Given the description of an element on the screen output the (x, y) to click on. 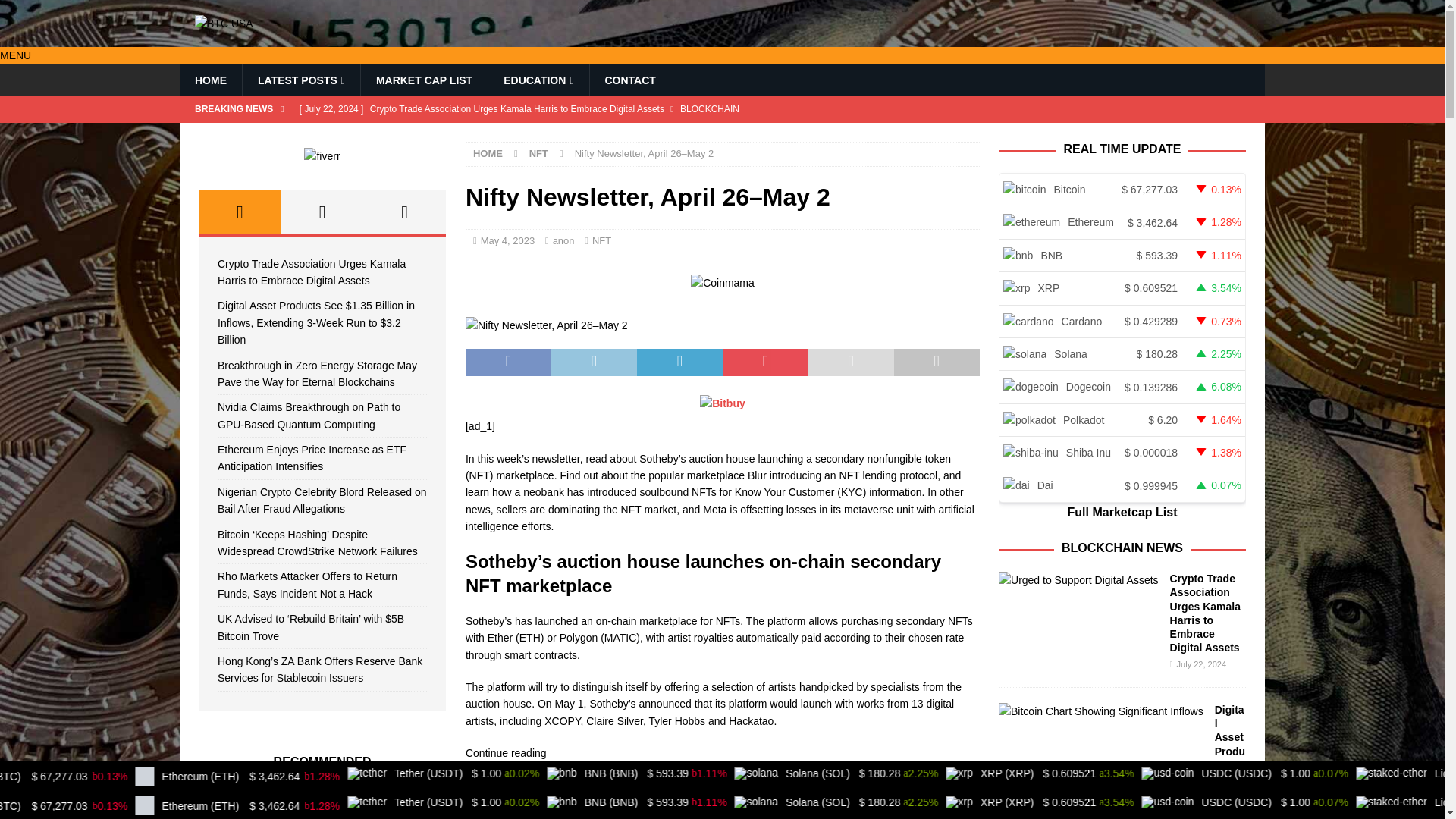
MARKET CAP LIST (423, 80)
HOME (487, 153)
HOME (210, 80)
CONTACT (628, 80)
NFT (538, 153)
May 4, 2023 (507, 240)
LATEST POSTS (300, 80)
MENU (15, 55)
EDUCATION (537, 80)
